Given the description of an element on the screen output the (x, y) to click on. 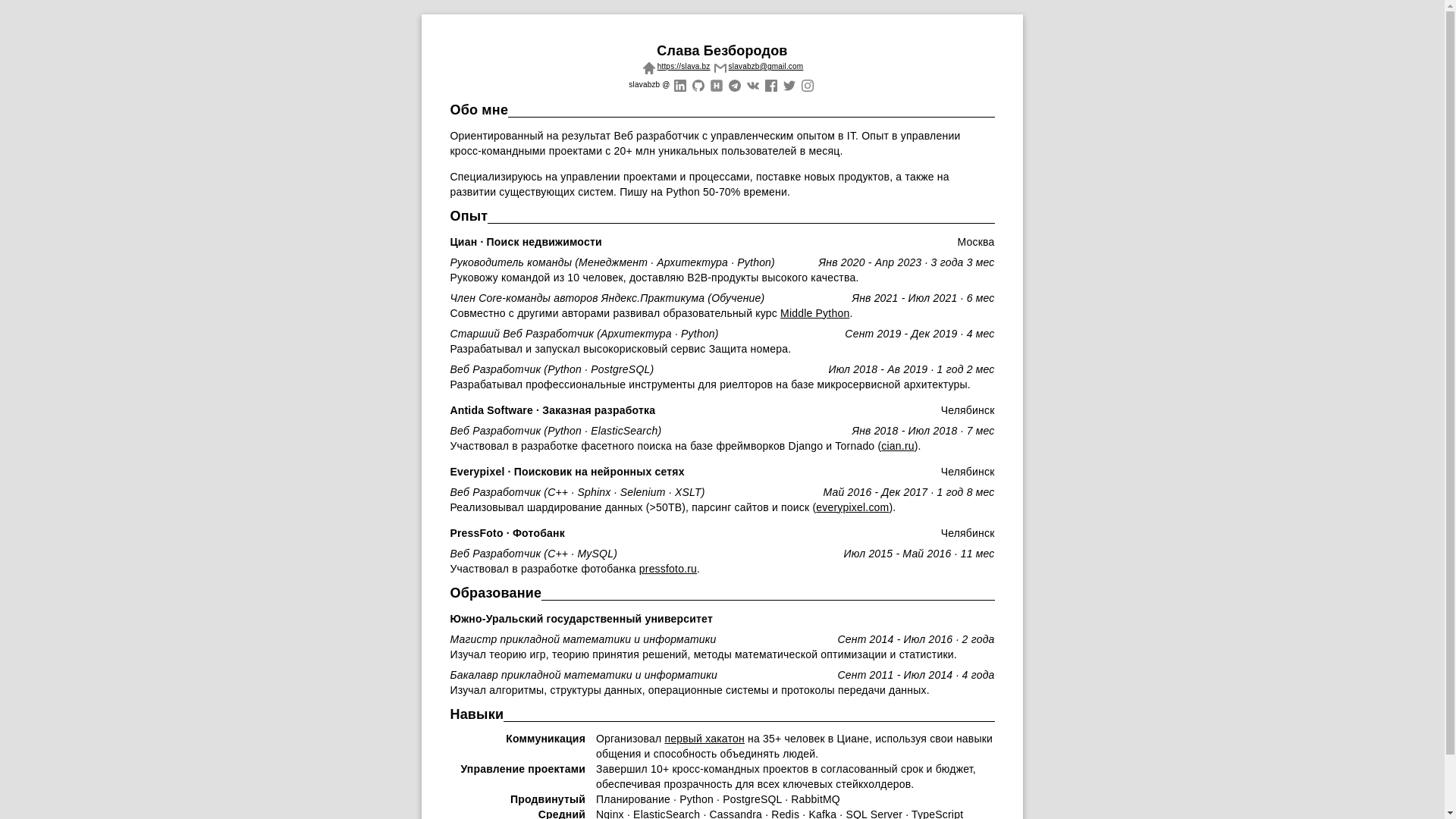
slavabzb Element type: hover (788, 83)
everypixel.com Element type: text (851, 507)
slavabzb Element type: hover (697, 83)
pressfoto.ru Element type: text (667, 568)
slavabzb Element type: hover (806, 83)
slavabzb Element type: hover (770, 83)
Middle Python Element type: text (814, 313)
slavabzb Element type: hover (715, 83)
cian.ru Element type: text (897, 445)
https://slava.bz Element type: text (674, 66)
slavabzb Element type: hover (733, 83)
slavabzb Element type: hover (752, 83)
slavabzb@gmail.com Element type: text (756, 66)
slavabzb Element type: hover (679, 83)
